Given the description of an element on the screen output the (x, y) to click on. 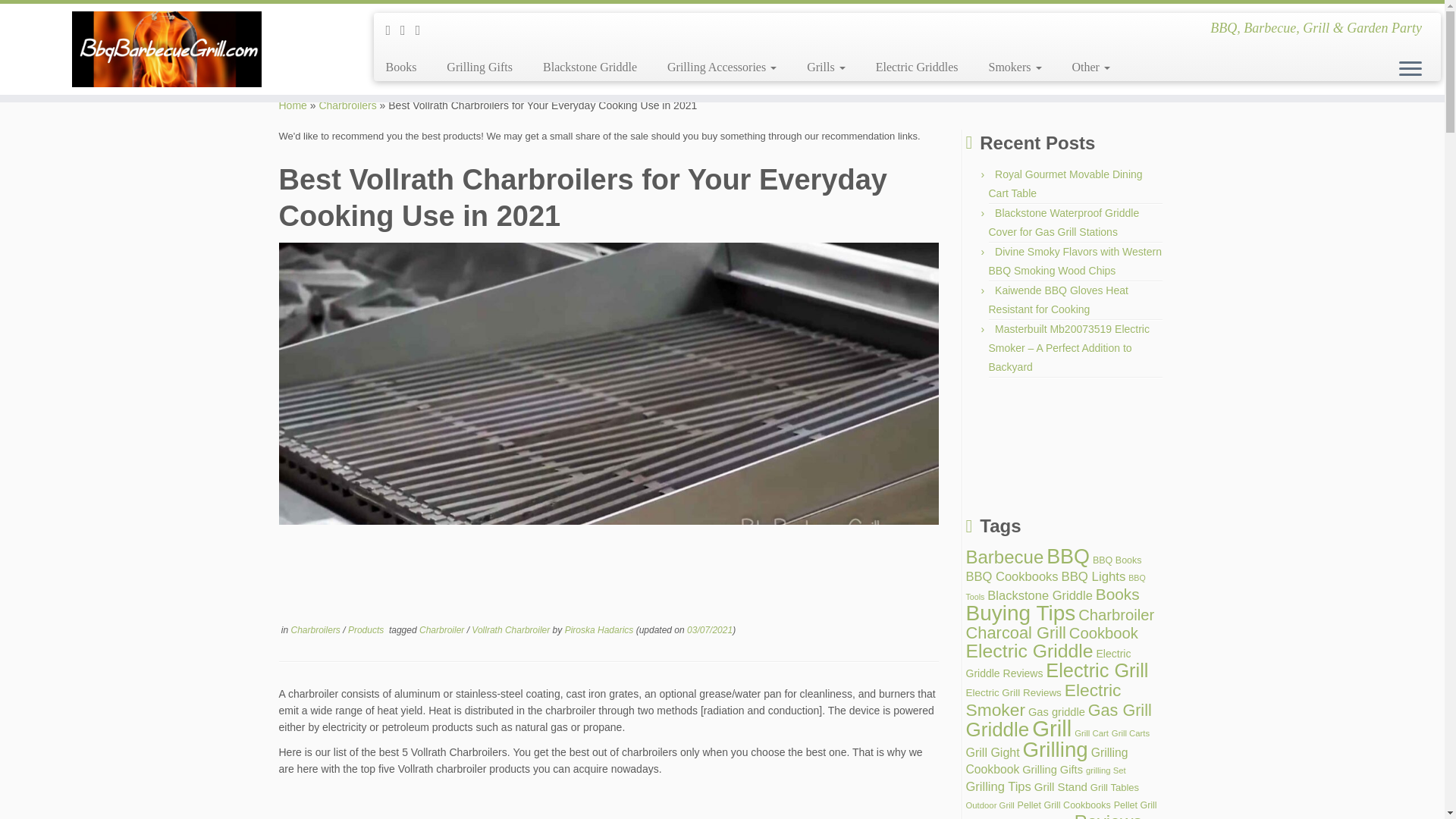
Grilling Gifts (478, 67)
View all posts in Charbroiler (443, 629)
View all posts in Charbroilers (317, 629)
Open the menu (1410, 69)
Smokers (1015, 67)
Follow us on Twitter (422, 29)
Other (1083, 67)
Follow us on Pinterest-p (392, 29)
Grilling Accessories (722, 67)
BBQ, Grill (293, 105)
View all posts in Vollrath Charbroiler (511, 629)
View all posts by Piroska Hadarics (598, 629)
View all posts in Products (367, 629)
Blackstone Griddle (589, 67)
